Given the description of an element on the screen output the (x, y) to click on. 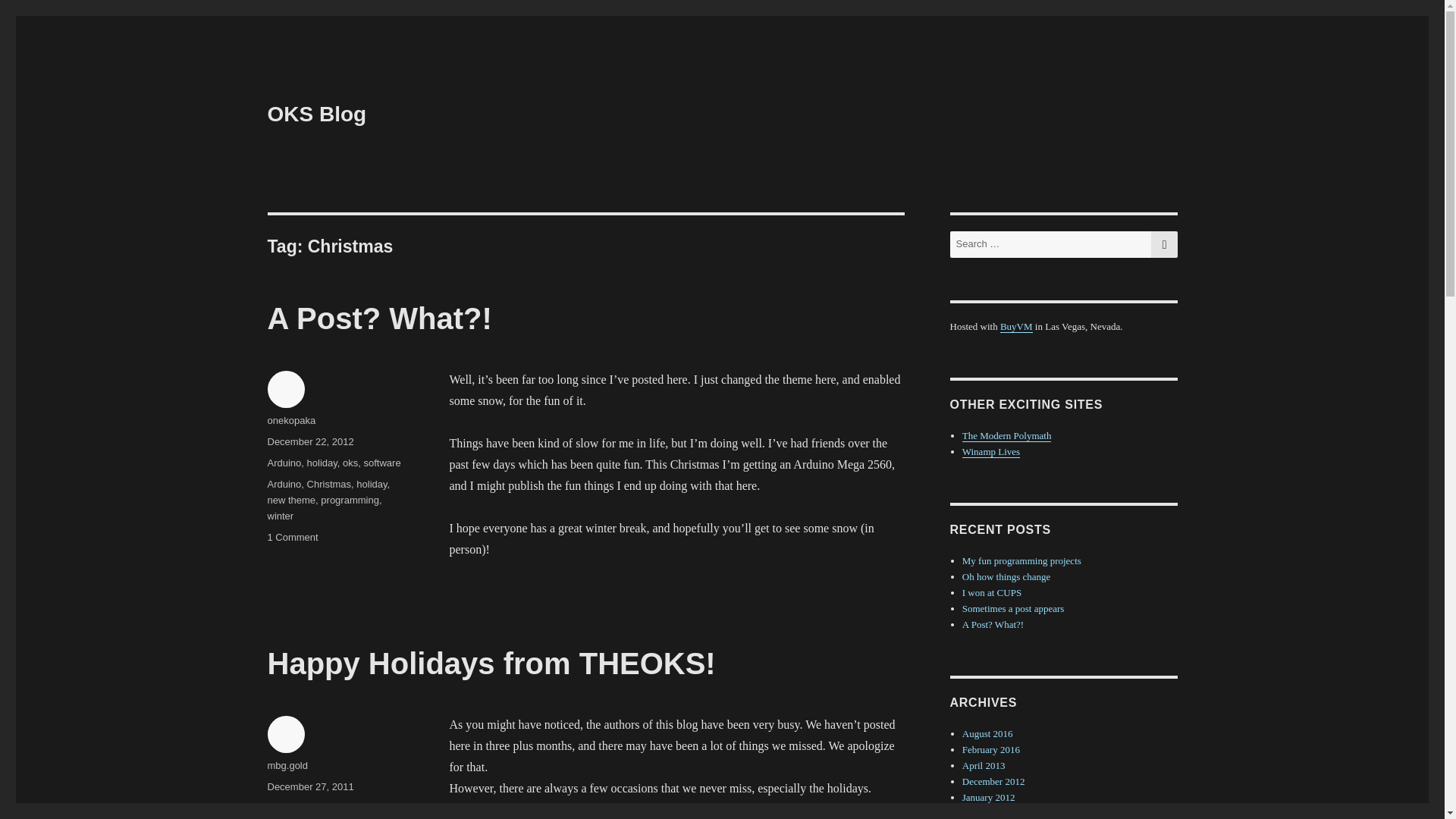
December 27, 2011 (309, 786)
oks (350, 462)
December 22, 2012 (309, 441)
winter (280, 515)
holiday (282, 808)
holiday (322, 462)
software (381, 462)
holiday (371, 483)
Christmas (329, 483)
Arduino (283, 462)
programming (291, 536)
OKS Blog (349, 500)
A Post? What?! (316, 114)
mbg.gold (379, 318)
